Given the description of an element on the screen output the (x, y) to click on. 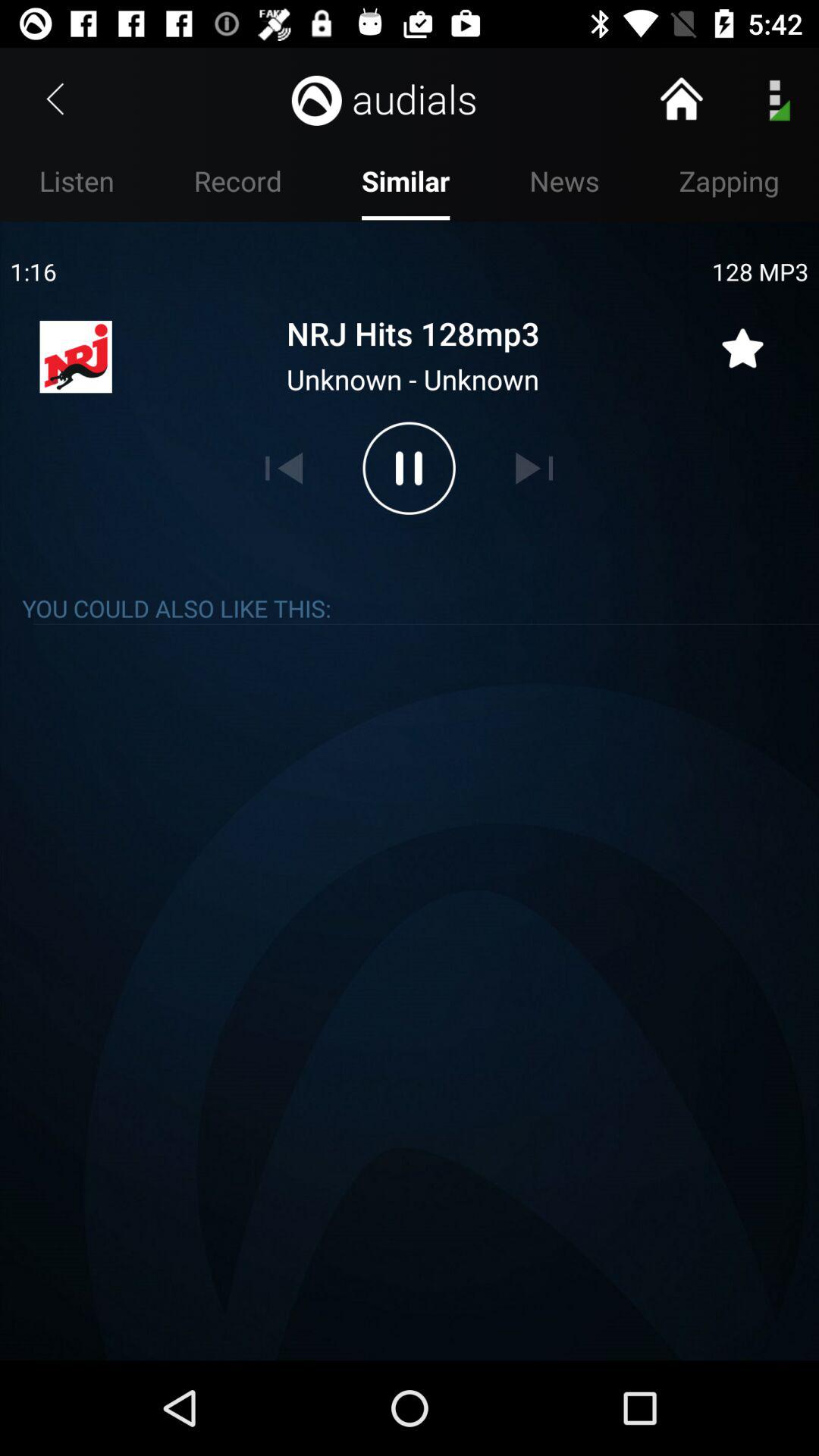
rate quality (742, 339)
